Given the description of an element on the screen output the (x, y) to click on. 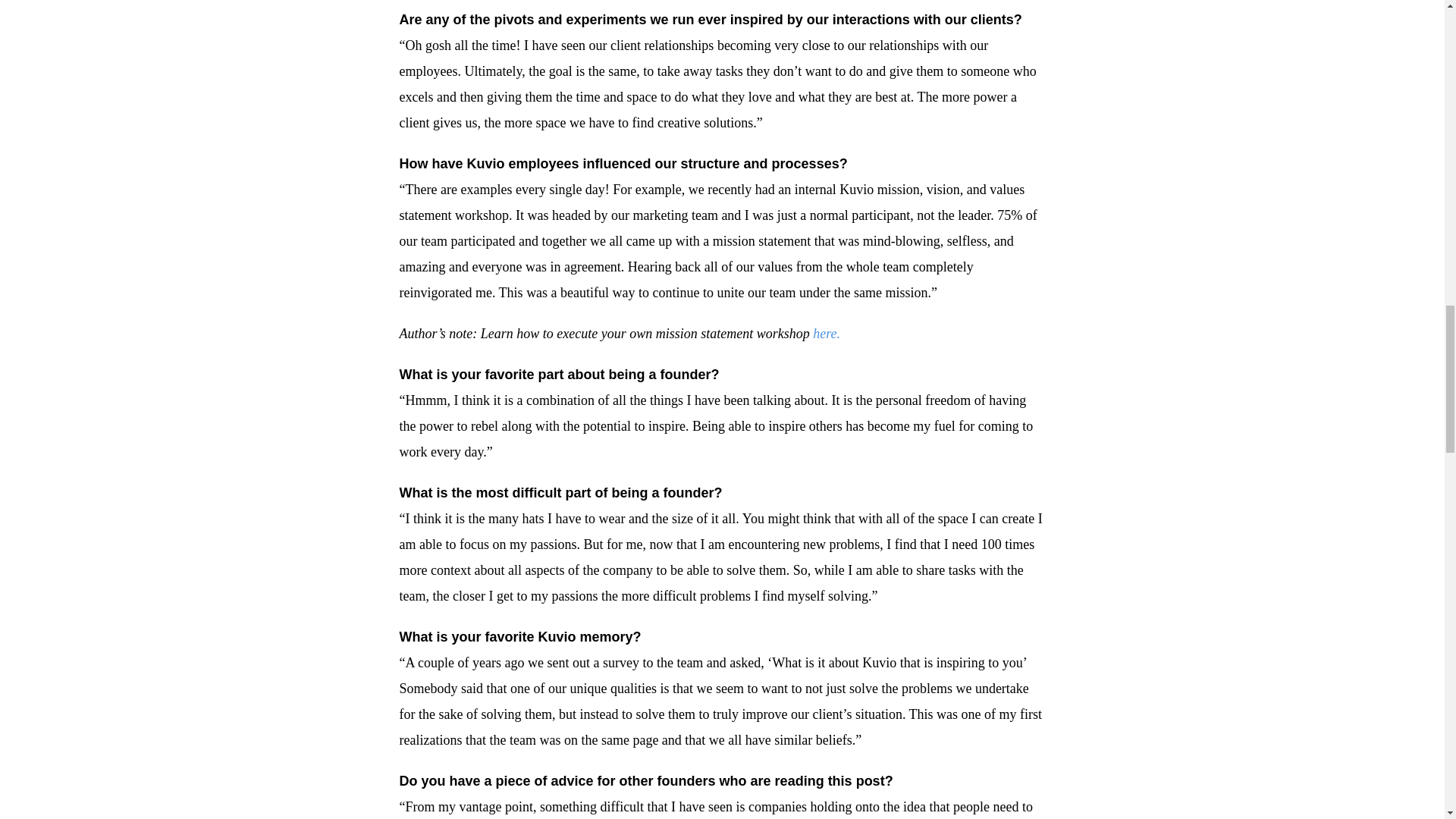
here. (824, 333)
